Given the description of an element on the screen output the (x, y) to click on. 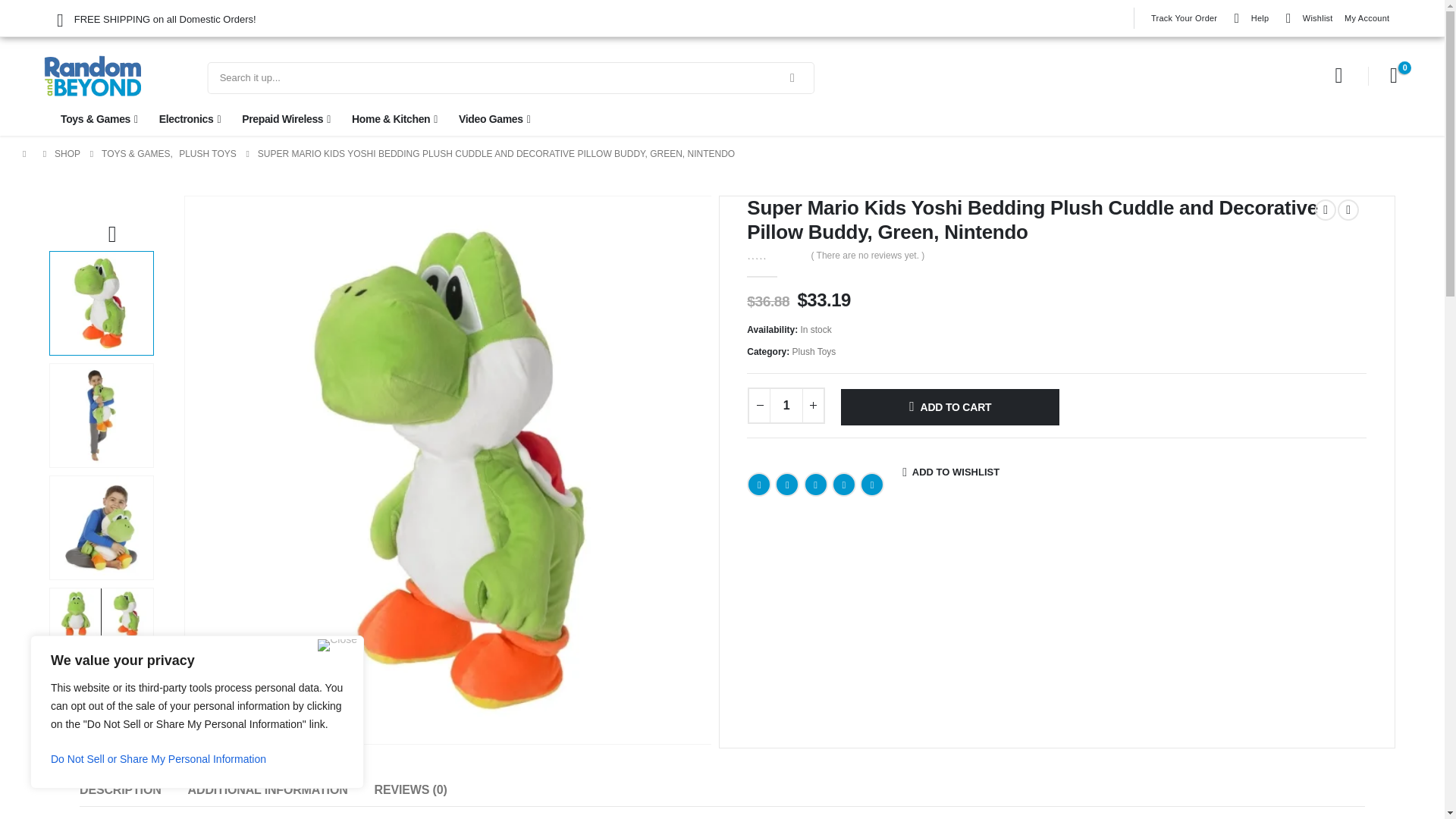
Wishlist (1306, 17)
Do Not Sell or Share My Personal Information (196, 759)
My Account (1339, 75)
Prepaid Wireless (285, 118)
Electronics (189, 118)
My Account (1366, 17)
Help (1249, 17)
Track Your Order (1183, 17)
Search (792, 78)
